Given the description of an element on the screen output the (x, y) to click on. 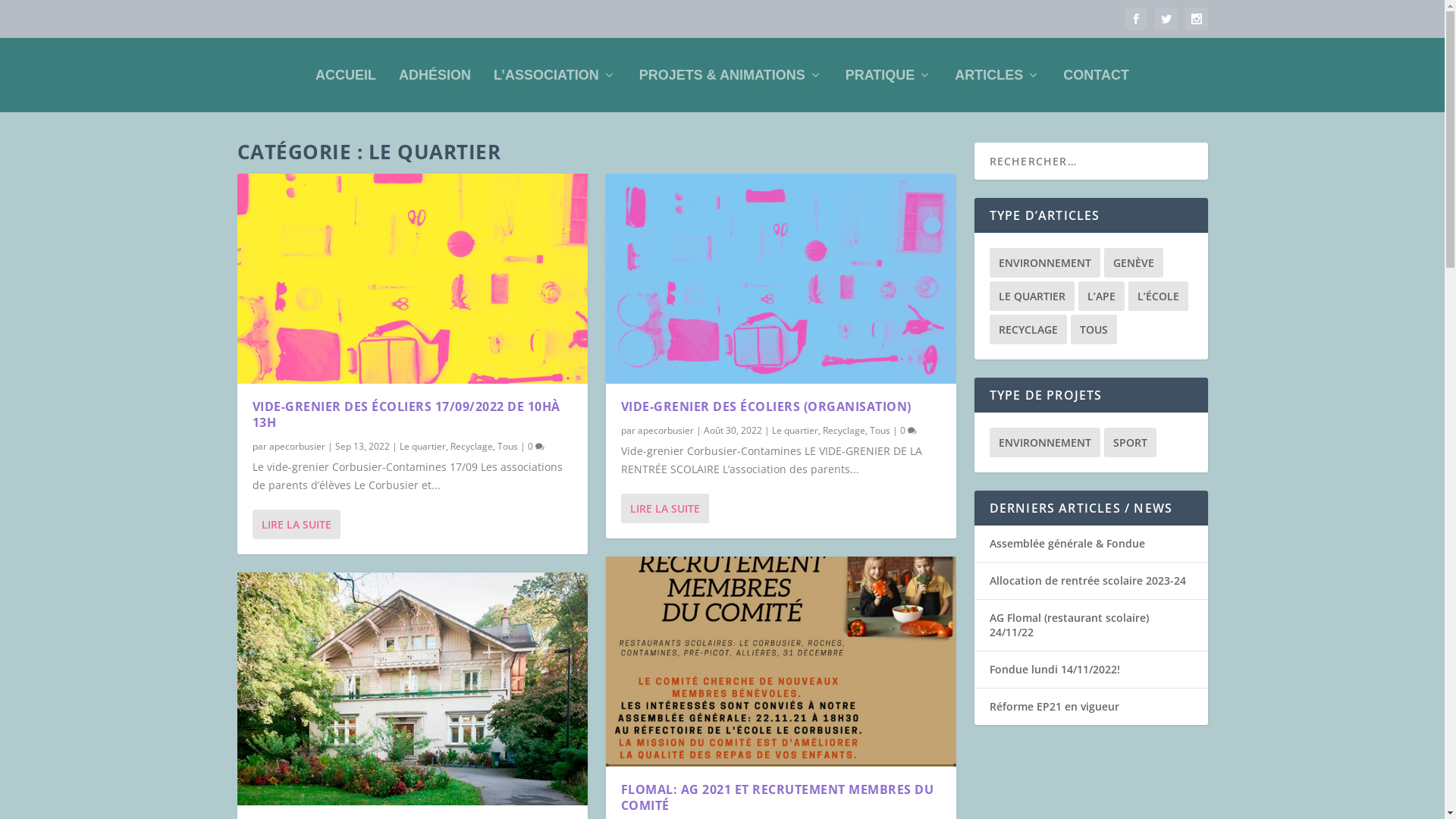
AG Flomal (restaurant scolaire) 24/11/22 Element type: text (1068, 624)
SPORT Element type: text (1130, 442)
PRATIQUE Element type: text (888, 74)
LE QUARTIER Element type: text (1030, 295)
ARTICLES Element type: text (997, 74)
CONTACT Element type: text (1096, 74)
TOUS Element type: text (1093, 329)
Atelier Parents-enfants Element type: hover (411, 689)
LIRE LA SUITE Element type: text (664, 508)
Tous Element type: text (879, 429)
Recyclage Element type: text (843, 429)
compteur de commentaires Element type: hover (911, 431)
apecorbusier Element type: text (665, 429)
PROJETS & ANIMATIONS Element type: text (730, 74)
apecorbusier Element type: text (296, 445)
0 Element type: text (907, 429)
RECYCLAGE Element type: text (1027, 329)
LIRE LA SUITE Element type: text (295, 524)
Le quartier Element type: text (421, 445)
Le quartier Element type: text (794, 429)
ACCUEIL Element type: text (345, 74)
compteur de commentaires Element type: hover (539, 447)
0 Element type: text (535, 445)
Fondue lundi 14/11/2022! Element type: text (1053, 669)
Rechercher Element type: text (43, 14)
Recyclage Element type: text (471, 445)
Tous Element type: text (507, 445)
ENVIRONNEMENT Element type: text (1043, 262)
ENVIRONNEMENT Element type: text (1043, 442)
